Given the description of an element on the screen output the (x, y) to click on. 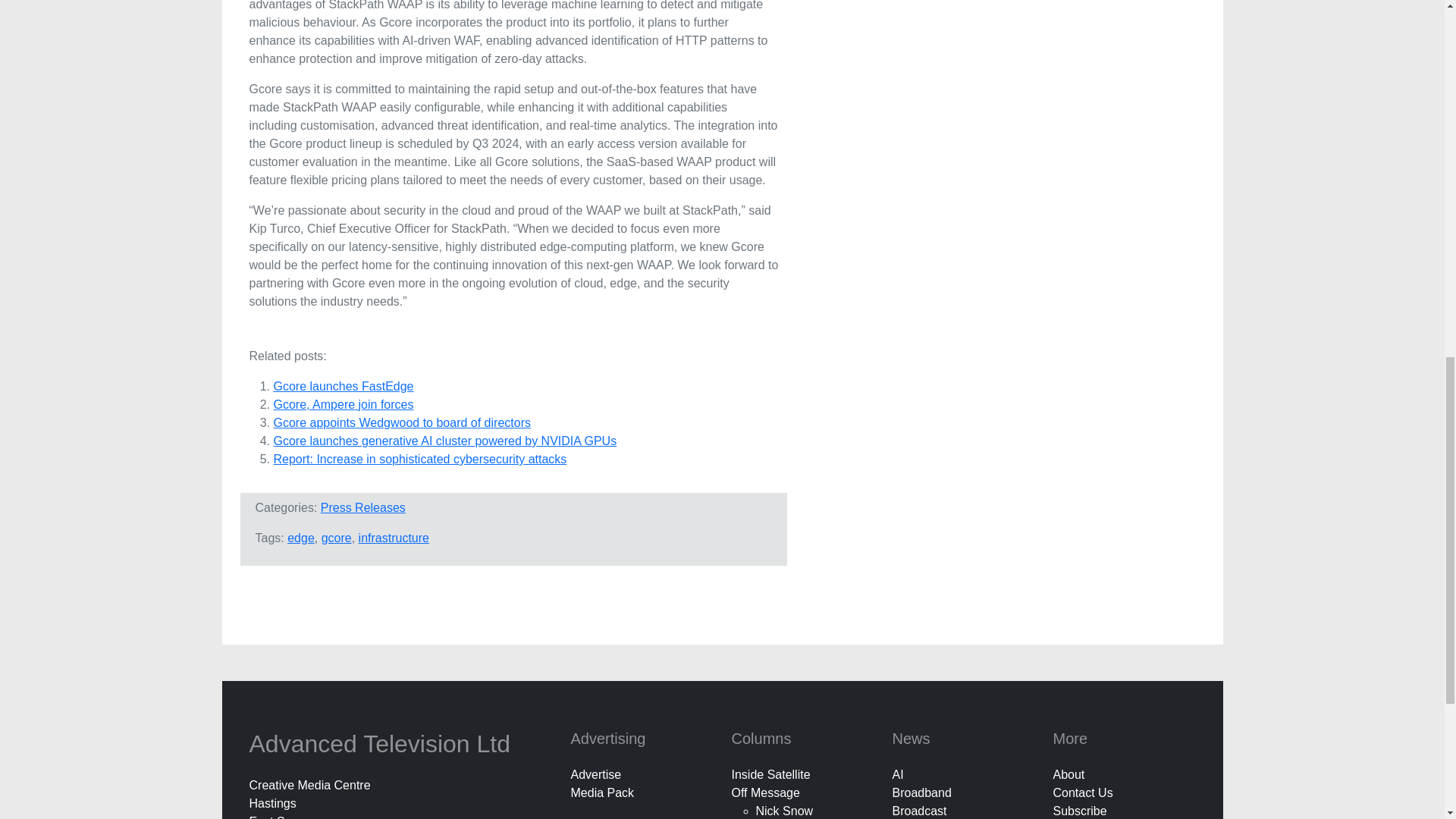
Gcore appoints Wedgwood to board of directors (401, 422)
Gcore, Ampere join forces (343, 404)
Gcore, Ampere join forces (343, 404)
Gcore launches FastEdge (343, 386)
Gcore launches generative AI cluster powered by NVIDIA GPUs (444, 440)
edge (300, 537)
Report: Increase in sophisticated cybersecurity attacks (419, 459)
Gcore launches generative AI cluster powered by NVIDIA GPUs (444, 440)
gcore (336, 537)
Gcore appoints Wedgwood to board of directors (401, 422)
